Given the description of an element on the screen output the (x, y) to click on. 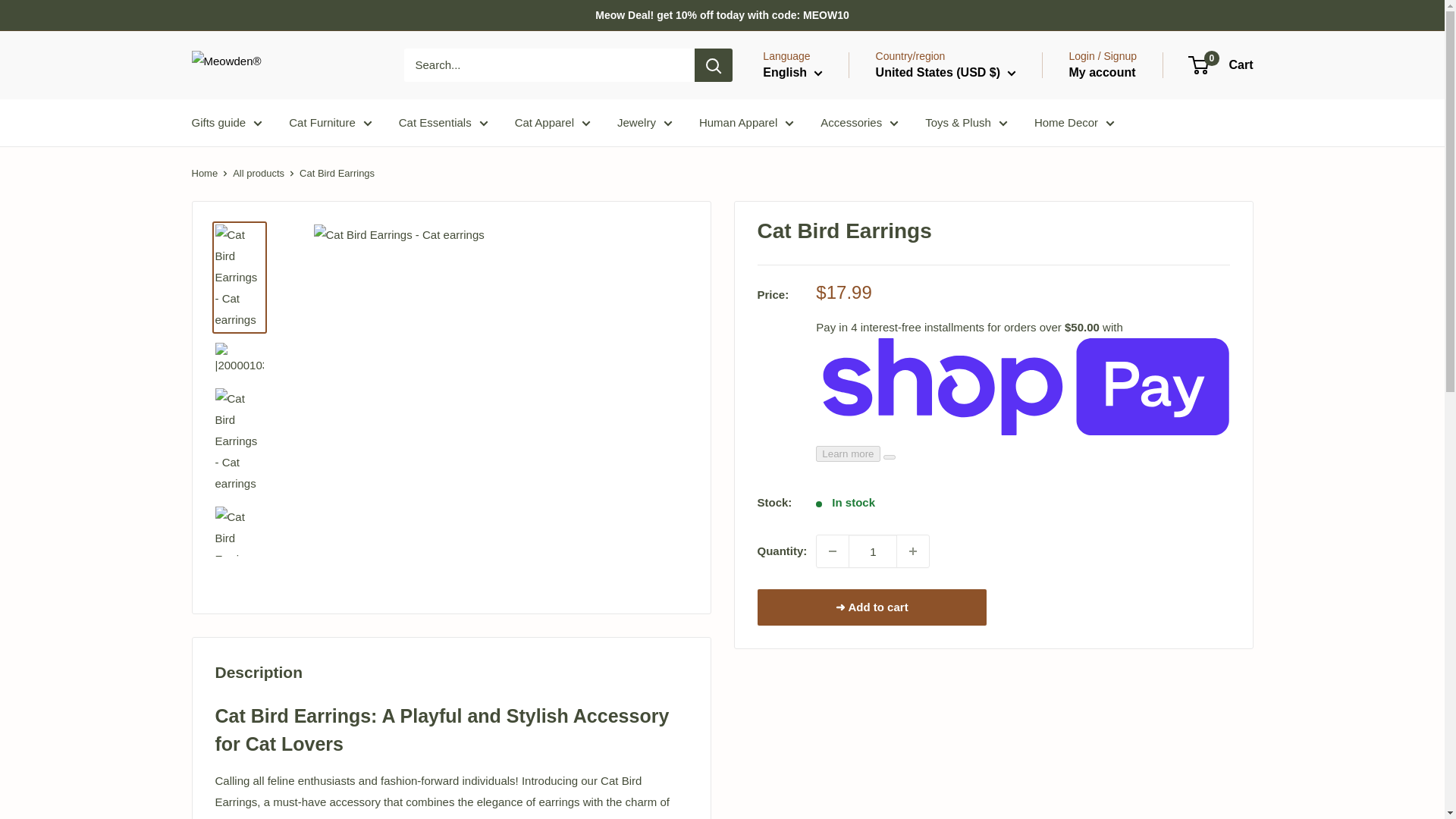
1 (872, 551)
Increase quantity by 1 (912, 551)
Decrease quantity by 1 (832, 551)
